Given the description of an element on the screen output the (x, y) to click on. 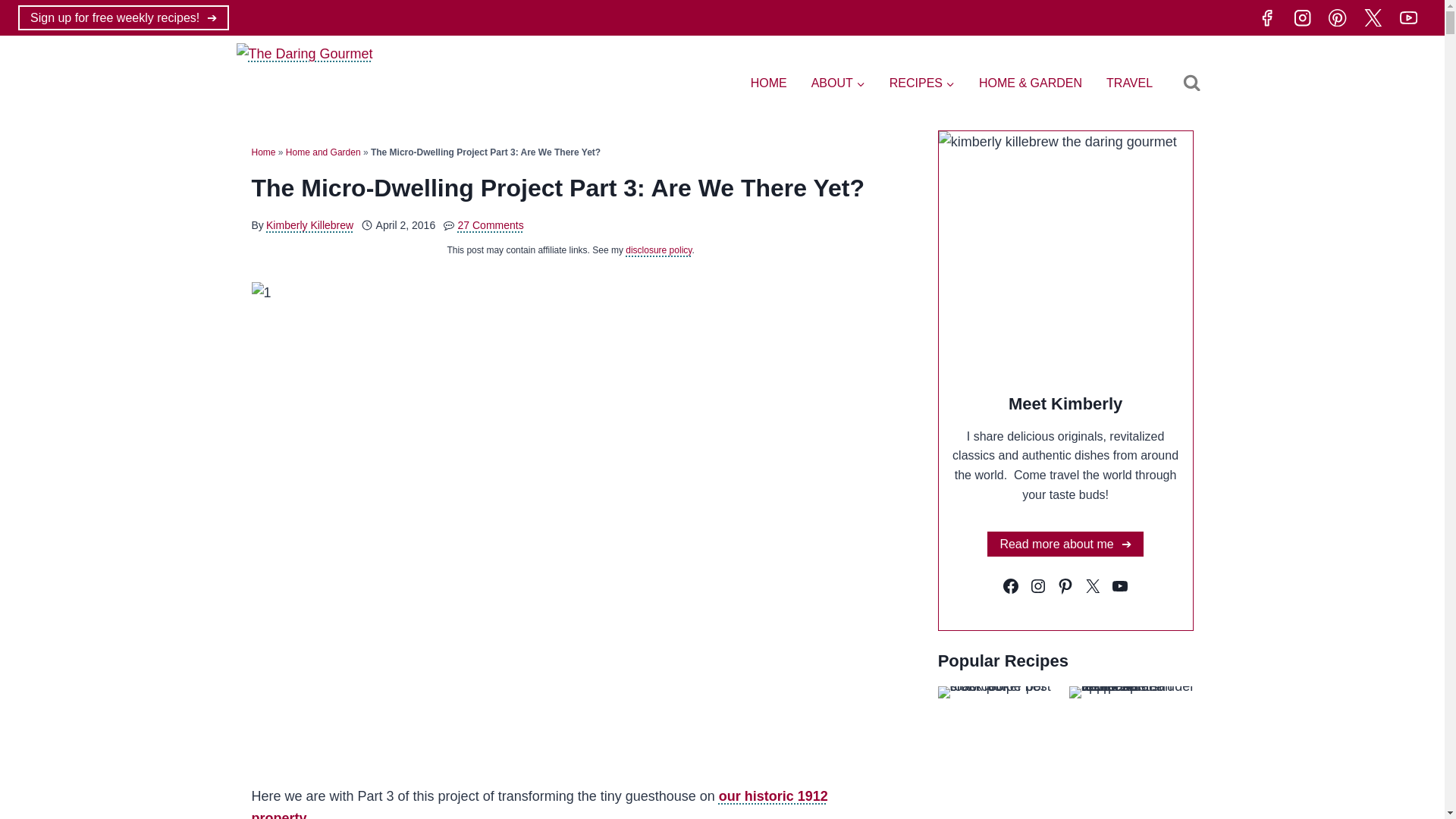
Home (263, 152)
ABOUT (838, 82)
Home and Garden (323, 152)
Sign up for free weekly recipes! (122, 17)
HOME (768, 82)
27 Comments (491, 225)
TRAVEL (1129, 82)
Kimberly Killebrew (309, 224)
our historic 1912 property (539, 803)
27 Comments (491, 225)
RECIPES (921, 82)
disclosure policy (658, 249)
